Given the description of an element on the screen output the (x, y) to click on. 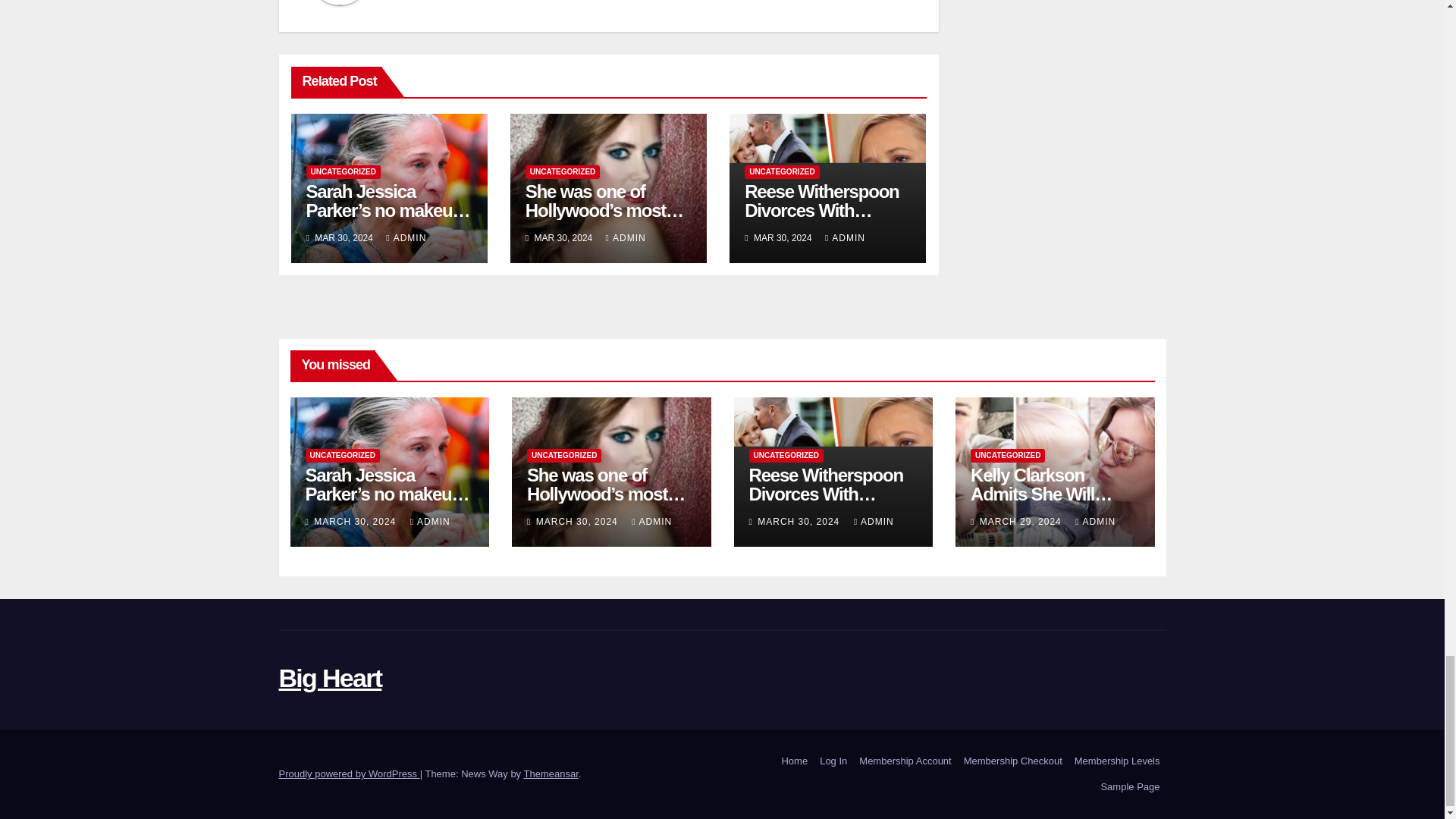
Home (793, 760)
UNCATEGORIZED (342, 172)
